Given the description of an element on the screen output the (x, y) to click on. 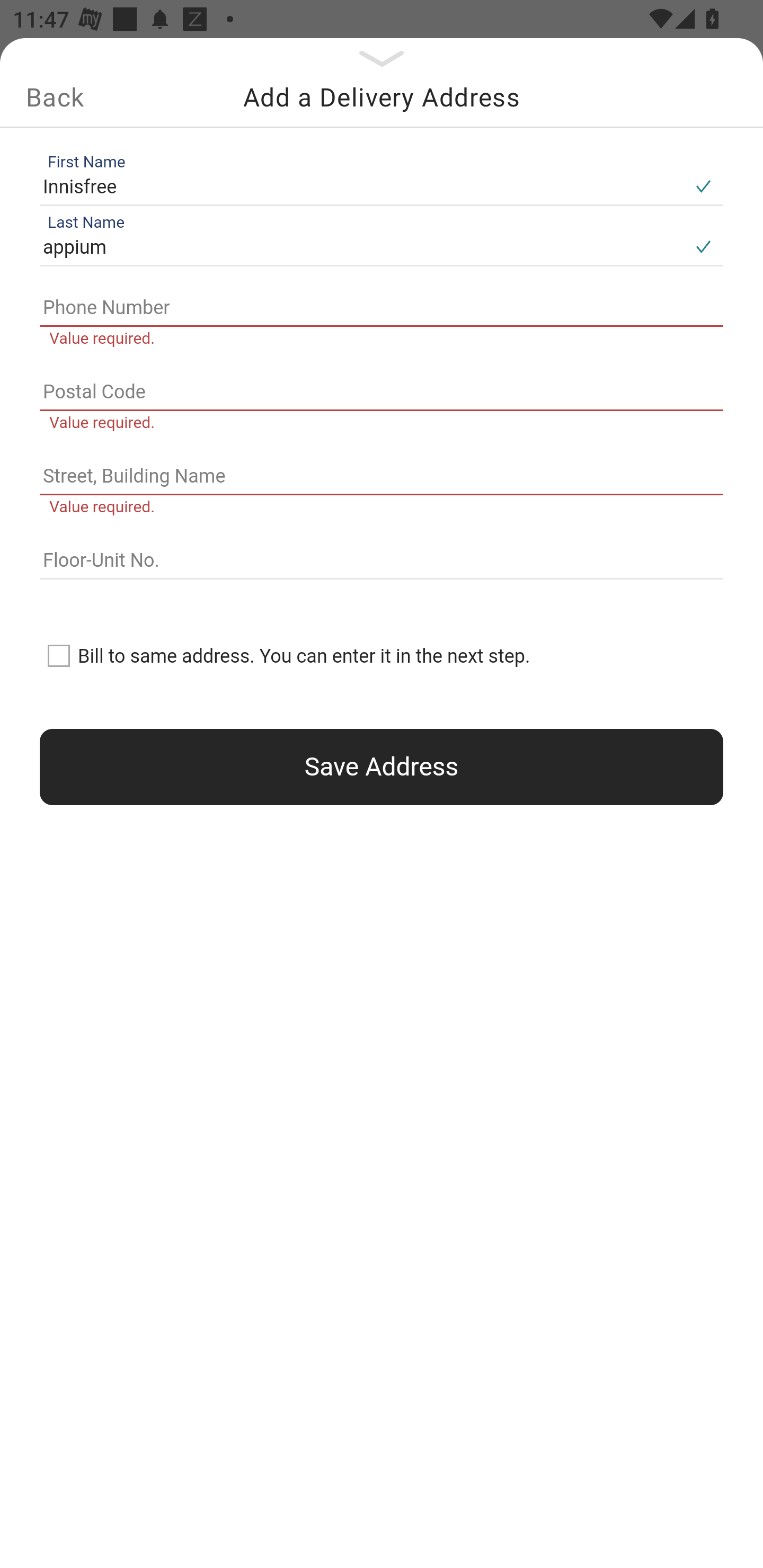
Back (54, 96)
Add a Delivery Address (381, 96)
Innisfree (361, 186)
appium (361, 247)
Save Address (381, 767)
